Given the description of an element on the screen output the (x, y) to click on. 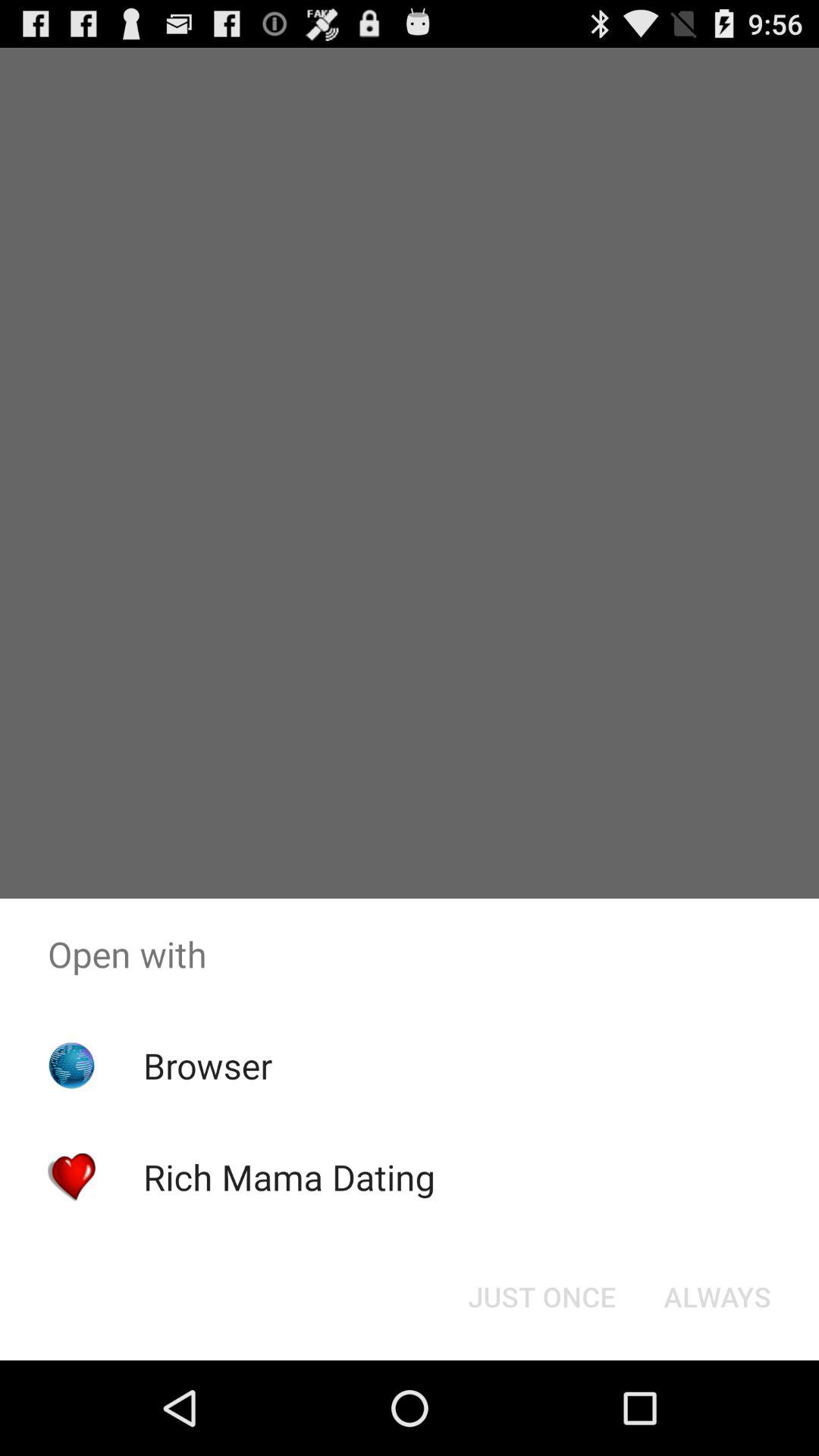
jump to the always button (717, 1296)
